Given the description of an element on the screen output the (x, y) to click on. 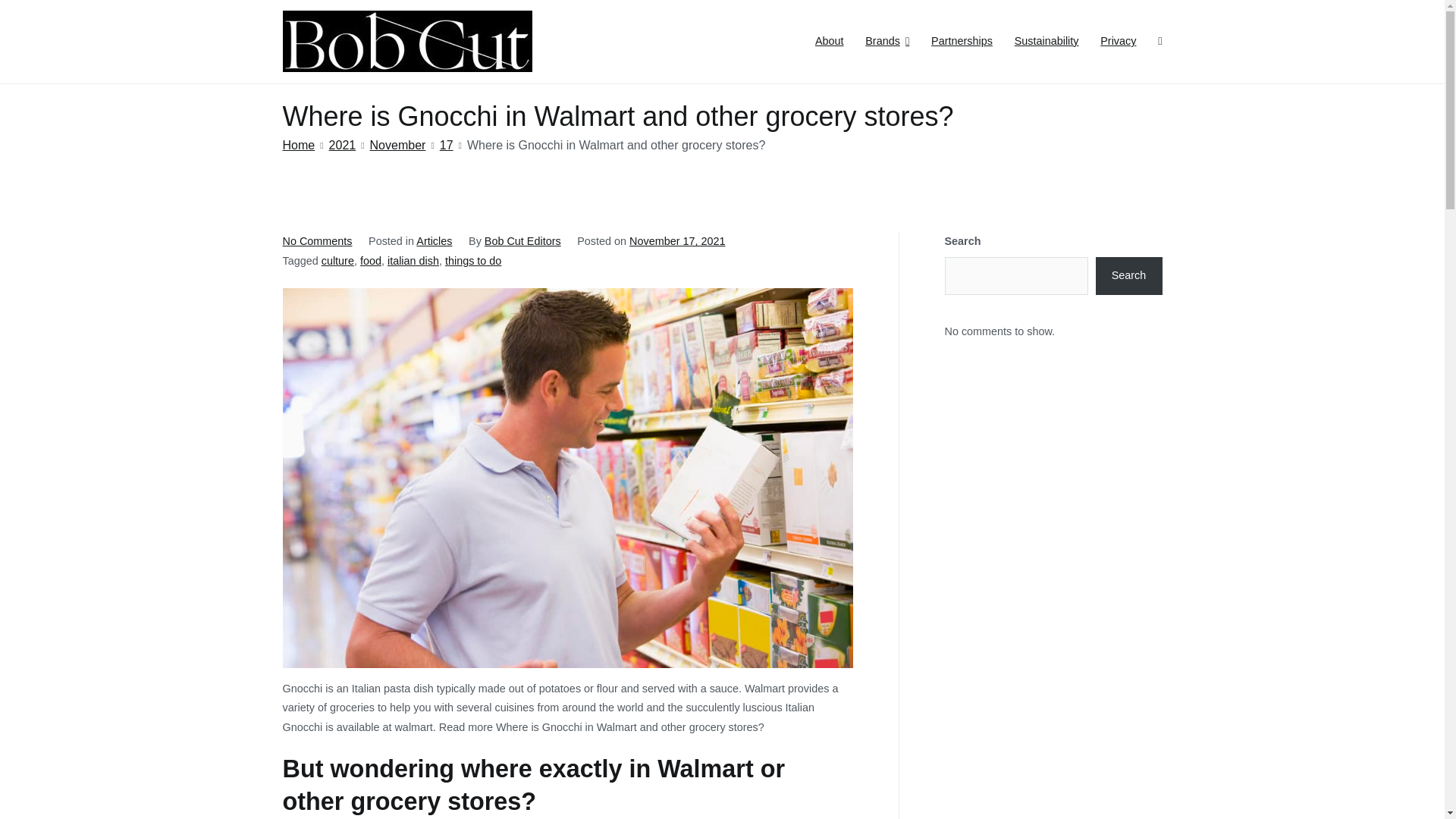
Bob Cut Editors (522, 241)
17 (445, 144)
Partnerships (961, 41)
Articles (433, 241)
Sustainability (1046, 41)
November 17, 2021 (676, 241)
2021 (342, 144)
Home (298, 144)
Brands (886, 41)
Search (28, 13)
Privacy (1117, 41)
About (829, 41)
November (397, 144)
Bob Cut Magazine (606, 51)
